Given the description of an element on the screen output the (x, y) to click on. 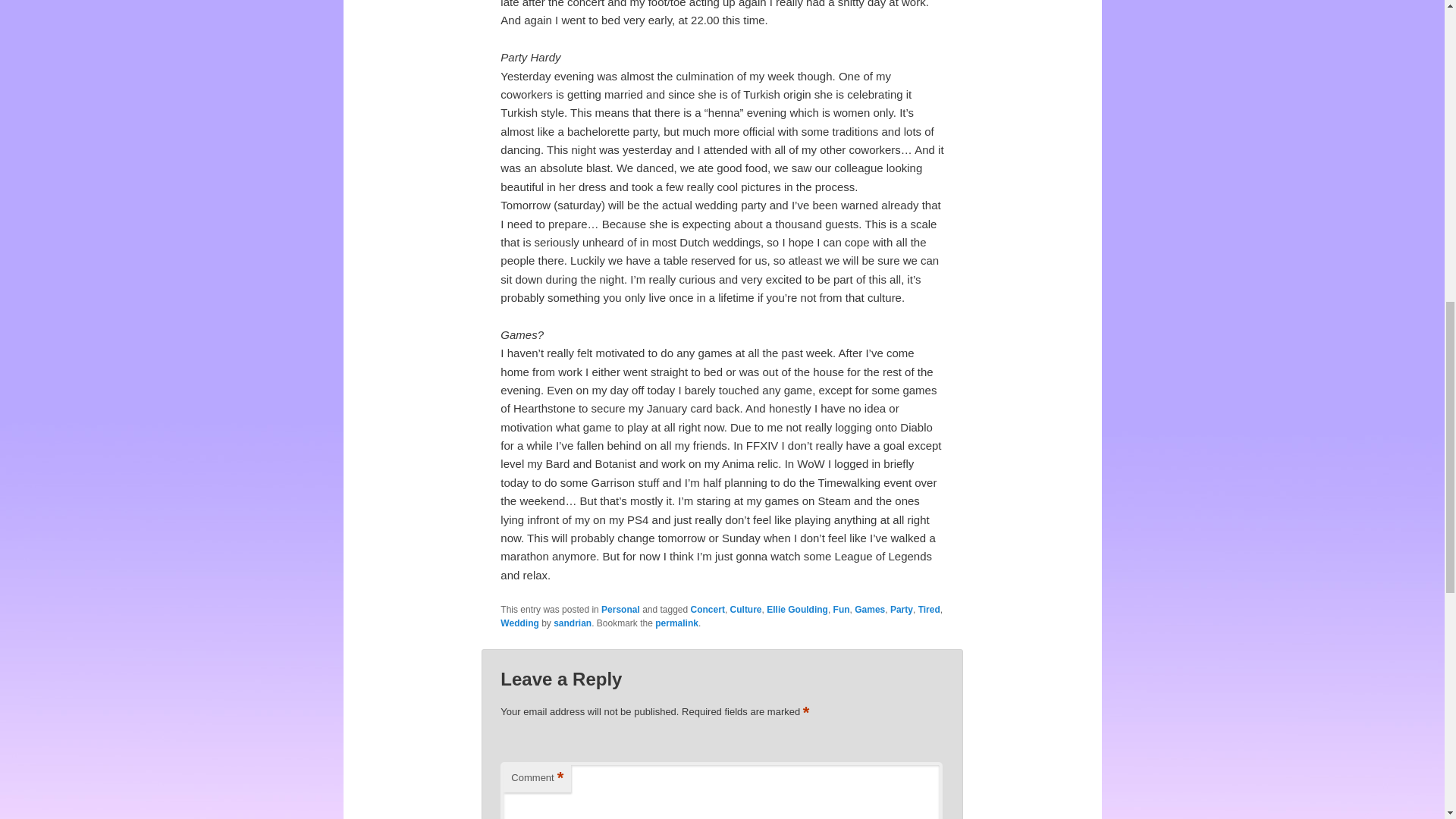
Ellie Goulding (797, 609)
sandrian (572, 623)
Concert (707, 609)
Party (900, 609)
Permalink to Exhausting Days (676, 623)
Culture (745, 609)
Games (869, 609)
Tired (929, 609)
Fun (841, 609)
Personal (620, 609)
permalink (676, 623)
Wedding (519, 623)
